Given the description of an element on the screen output the (x, y) to click on. 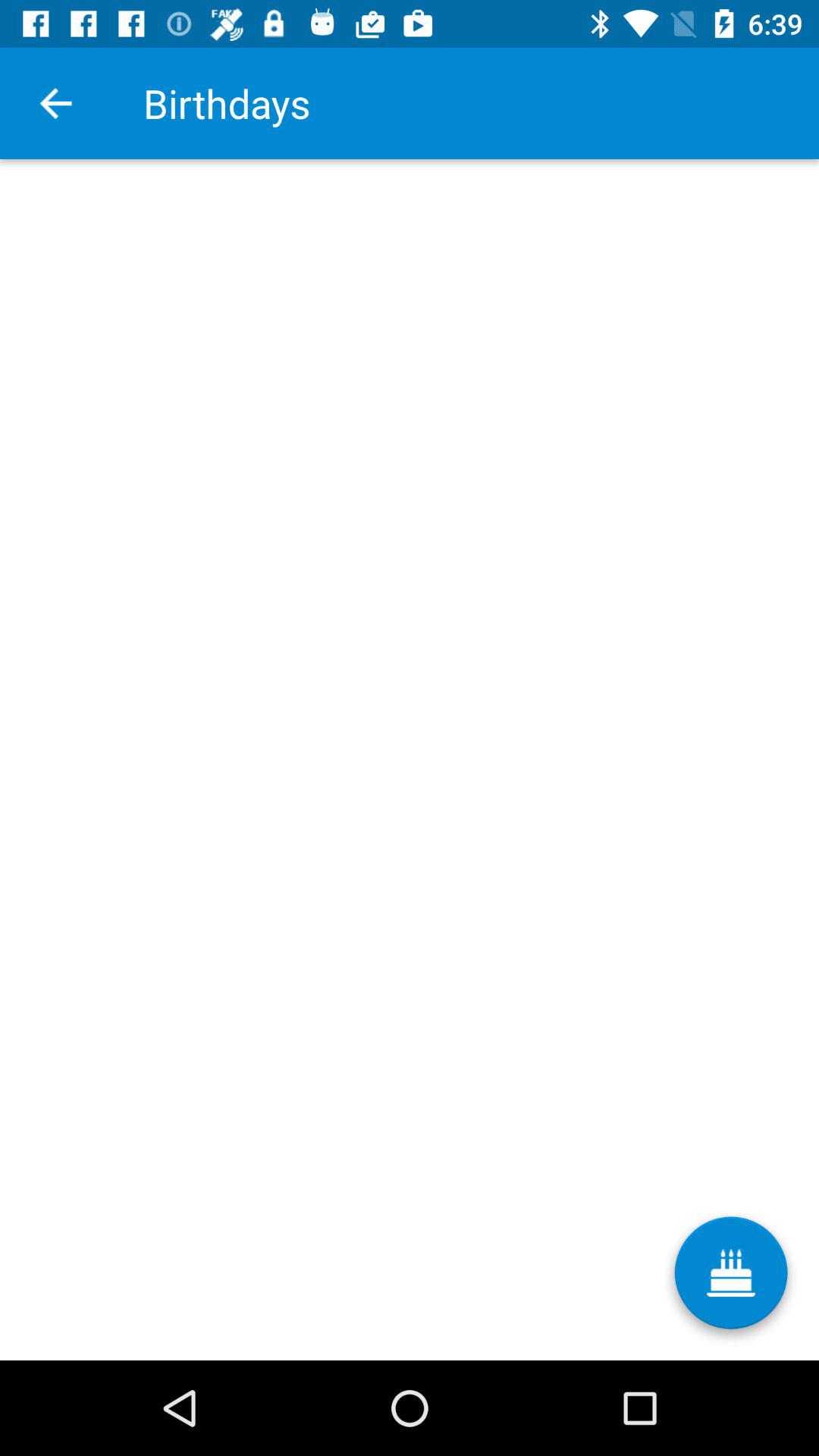
select icon to the left of birthdays (55, 103)
